Given the description of an element on the screen output the (x, y) to click on. 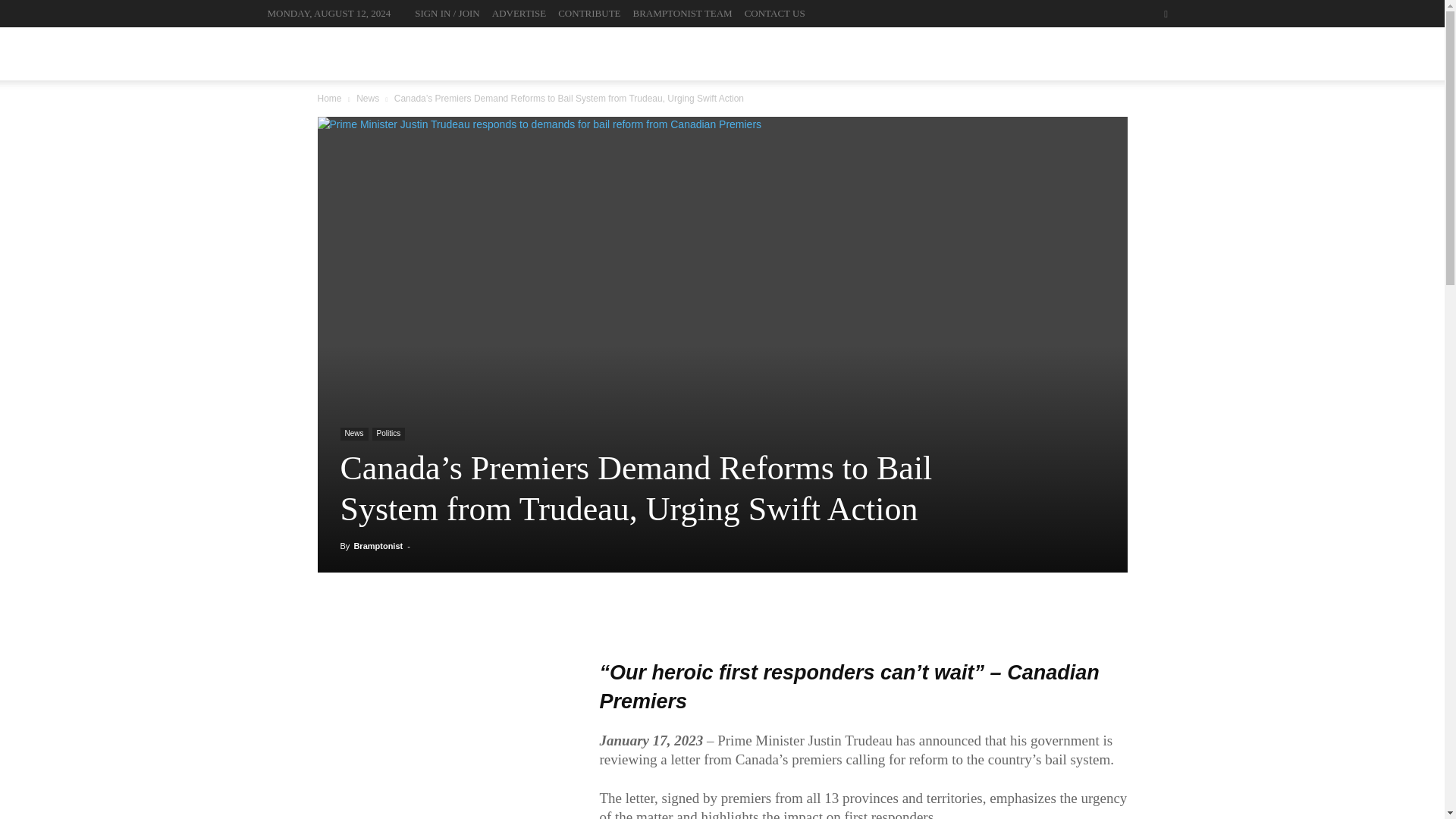
CONTRIBUTE (588, 12)
BRAMPTONIST TEAM (682, 12)
CONTACT US (774, 12)
ADVERTISE (519, 12)
Search (1134, 70)
